Given the description of an element on the screen output the (x, y) to click on. 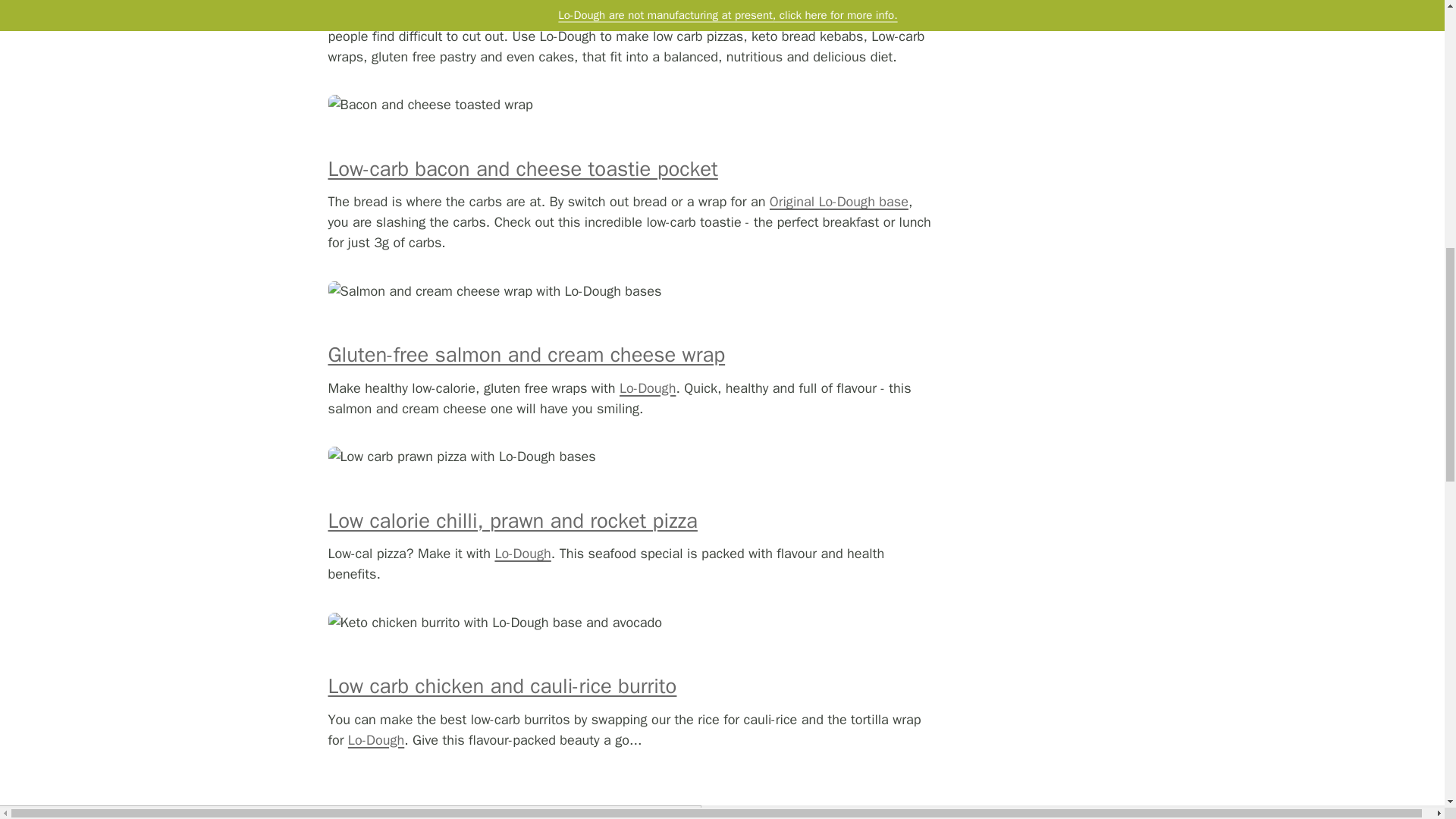
low carb bread (522, 553)
low carb bread (647, 388)
gluten free wrap (526, 354)
Lo-Dough (647, 388)
Low calorie chilli, prawn and rocket pizza (512, 520)
low carb bread (375, 740)
low-carb bread (839, 201)
Lo-Dough (522, 553)
Low-calorie pizza (512, 520)
Gluten-free salmon and cream cheese wrap (526, 354)
Low carb chicken and cauli-rice burrito (502, 686)
Lo-Dough (375, 740)
Low-carb burrito (502, 686)
Original Lo-Dough base (839, 201)
Low carb toastie (522, 168)
